Given the description of an element on the screen output the (x, y) to click on. 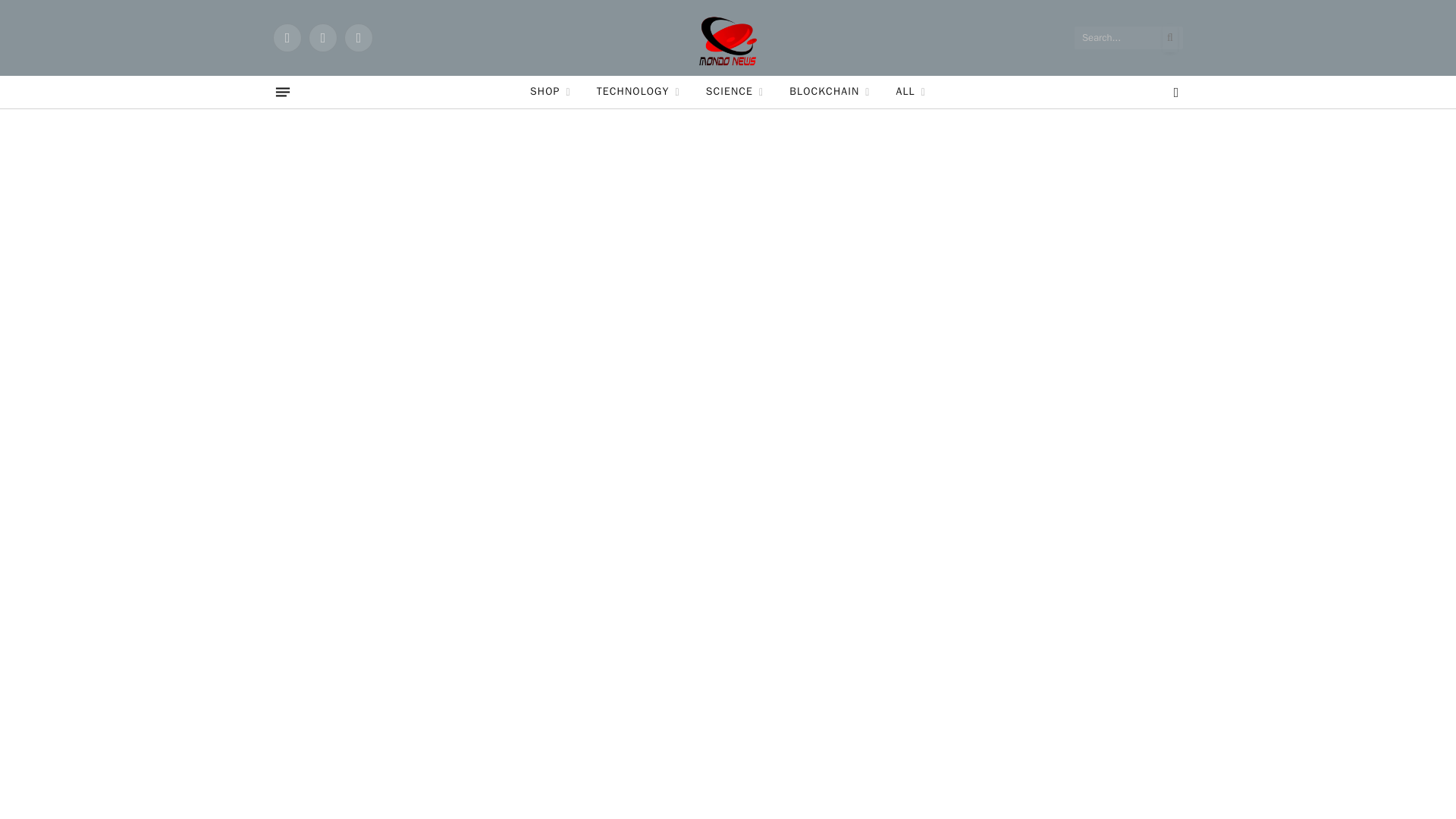
TECHNOLOGY (638, 92)
Facebook (287, 37)
SHOP (549, 92)
Instagram (357, 37)
